Given the description of an element on the screen output the (x, y) to click on. 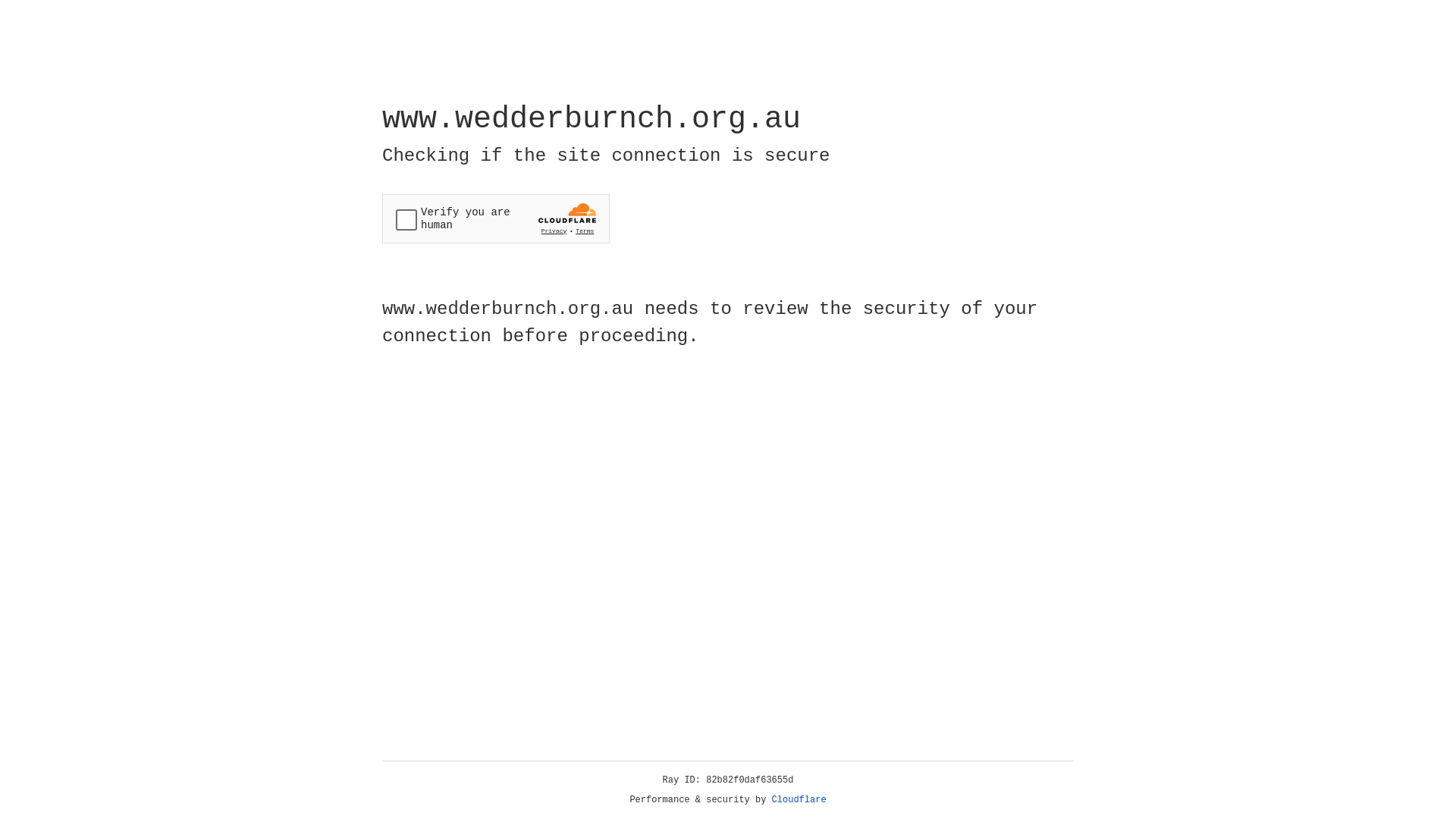
Cloudflare Element type: text (798, 799)
Widget containing a Cloudflare security challenge Element type: hover (495, 218)
